Given the description of an element on the screen output the (x, y) to click on. 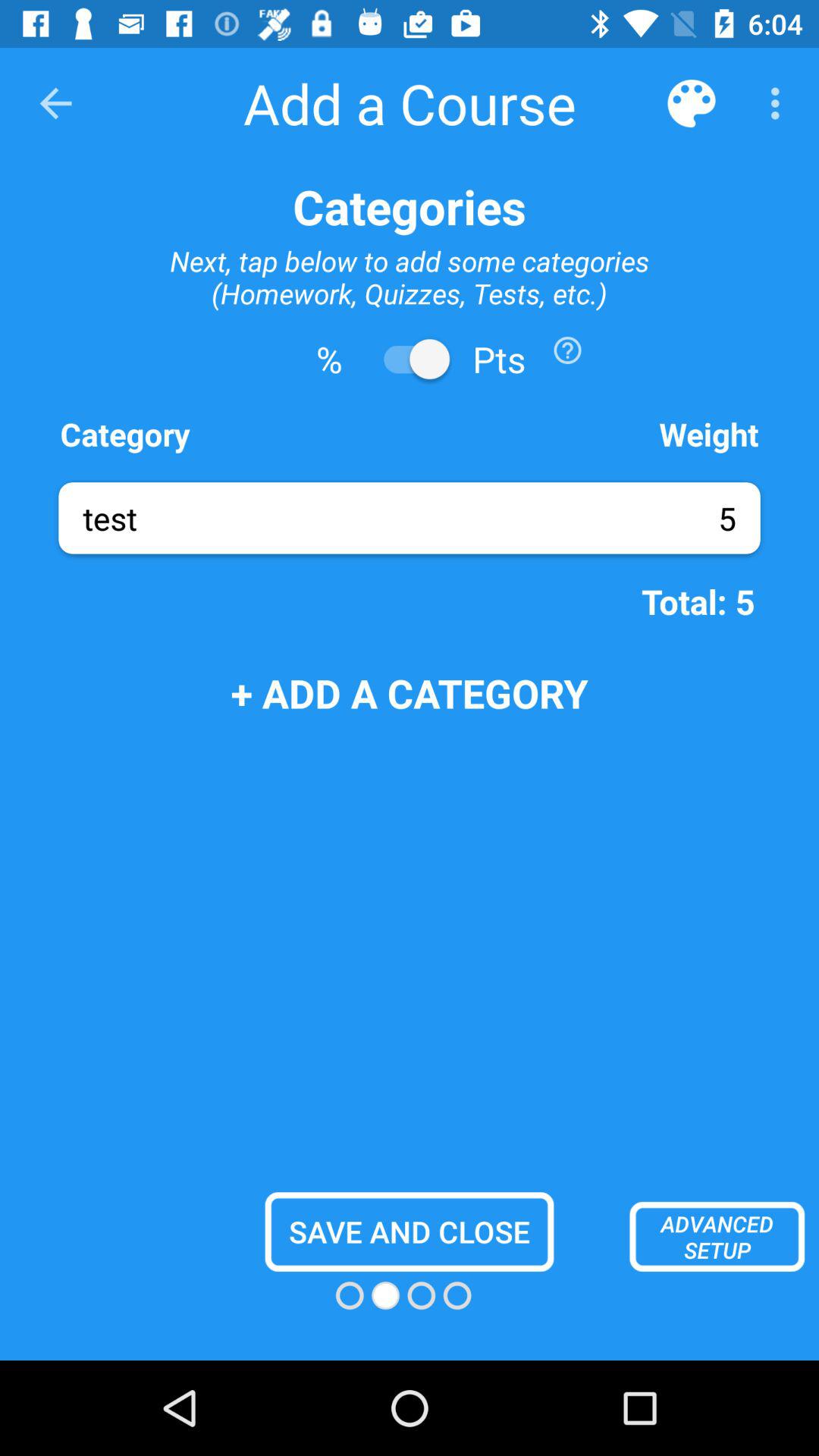
select icon to the right of the save and close item (716, 1236)
